Given the description of an element on the screen output the (x, y) to click on. 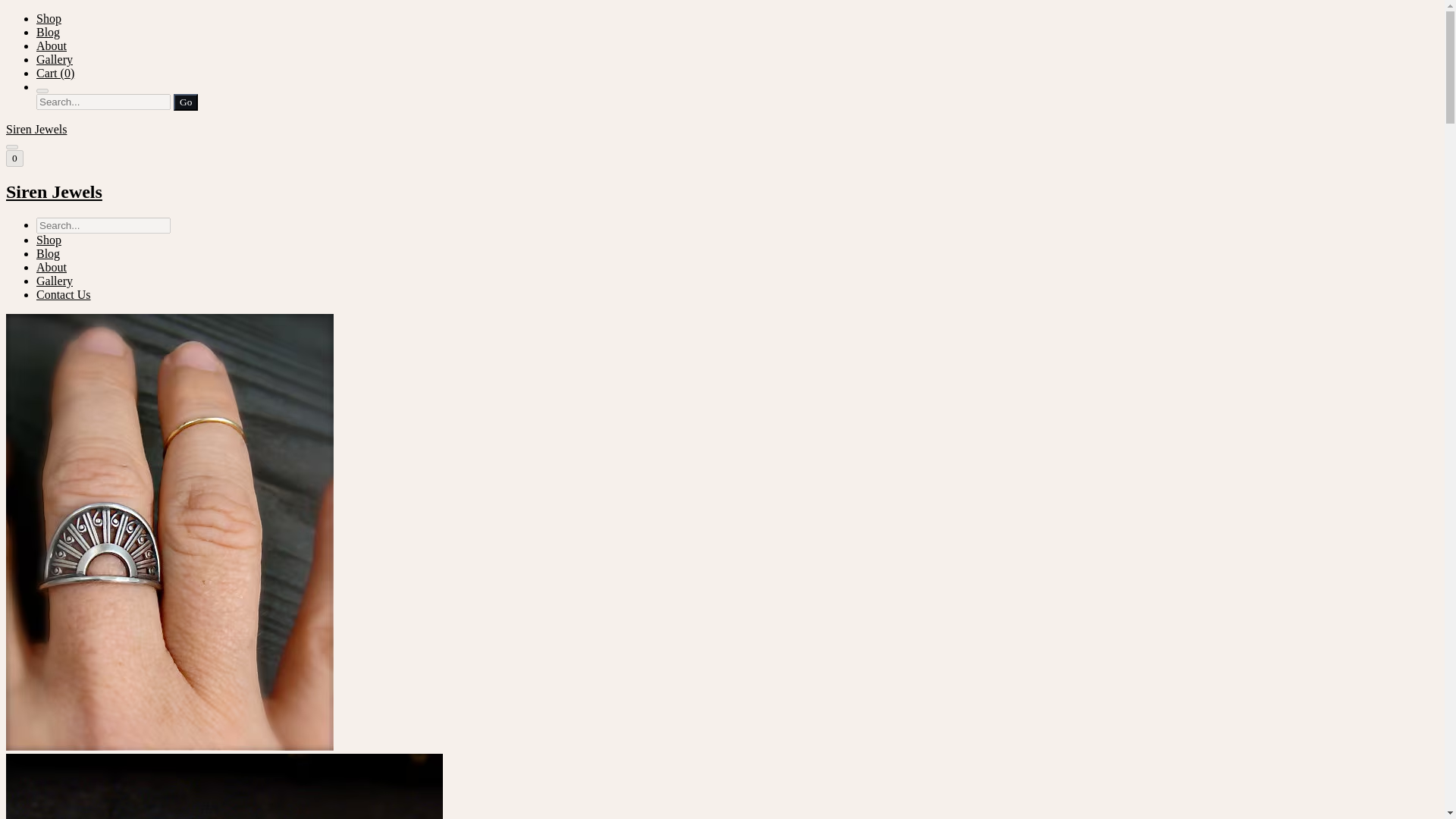
Blog (47, 253)
About (51, 45)
Gallery (54, 59)
Shop (48, 18)
Gallery (54, 280)
0 (14, 158)
Blog (47, 31)
About (51, 267)
Contact Us (63, 294)
Go (185, 102)
Shop (48, 239)
Go (185, 102)
